Given the description of an element on the screen output the (x, y) to click on. 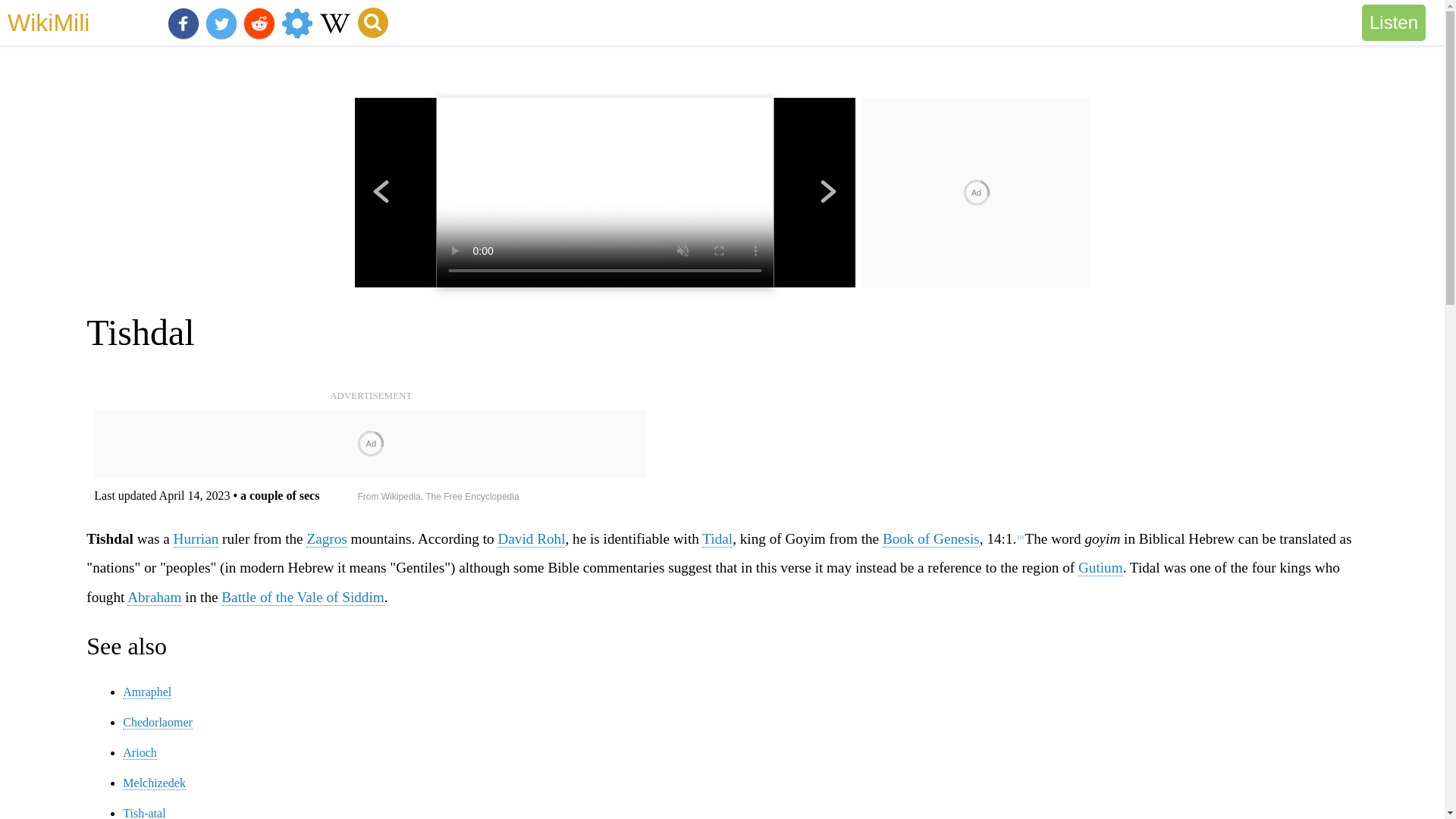
Next (828, 192)
Battle of the Vale of Siddim (302, 597)
Amraphel (146, 692)
Zagros (325, 538)
Search (373, 22)
WikiMili (47, 22)
Previous (381, 192)
Chedorlaomer (157, 722)
Abraham (154, 597)
Tish-atal (143, 812)
Amraphel (146, 692)
David Rohl (530, 538)
Arioch (138, 753)
Zagros (325, 538)
Hurrian (196, 538)
